Given the description of an element on the screen output the (x, y) to click on. 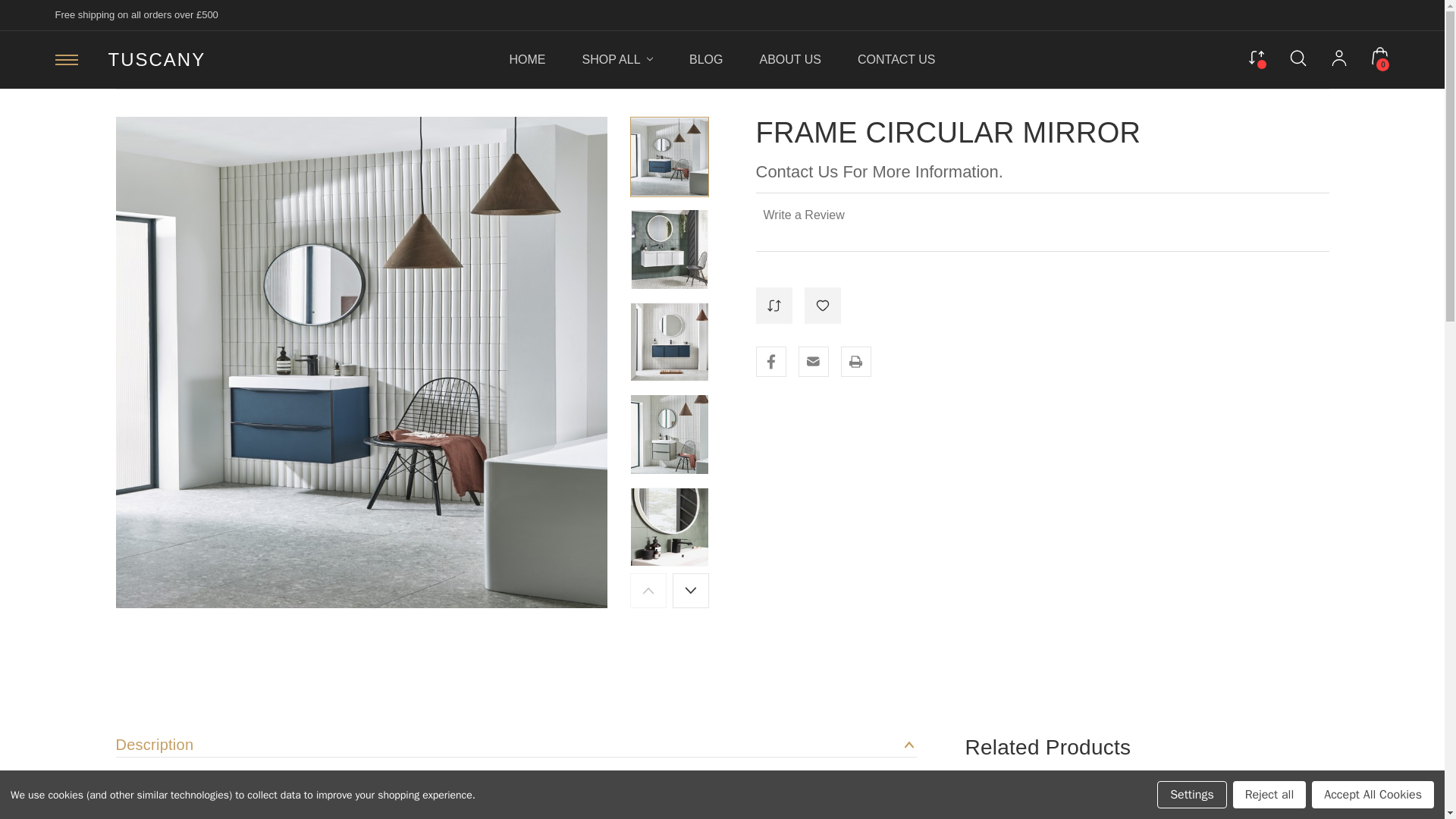
SHOP ALL (616, 59)
Facebook (770, 361)
TUSCANY (156, 59)
TUSCANY (156, 59)
Email (812, 361)
Print (855, 361)
